Given the description of an element on the screen output the (x, y) to click on. 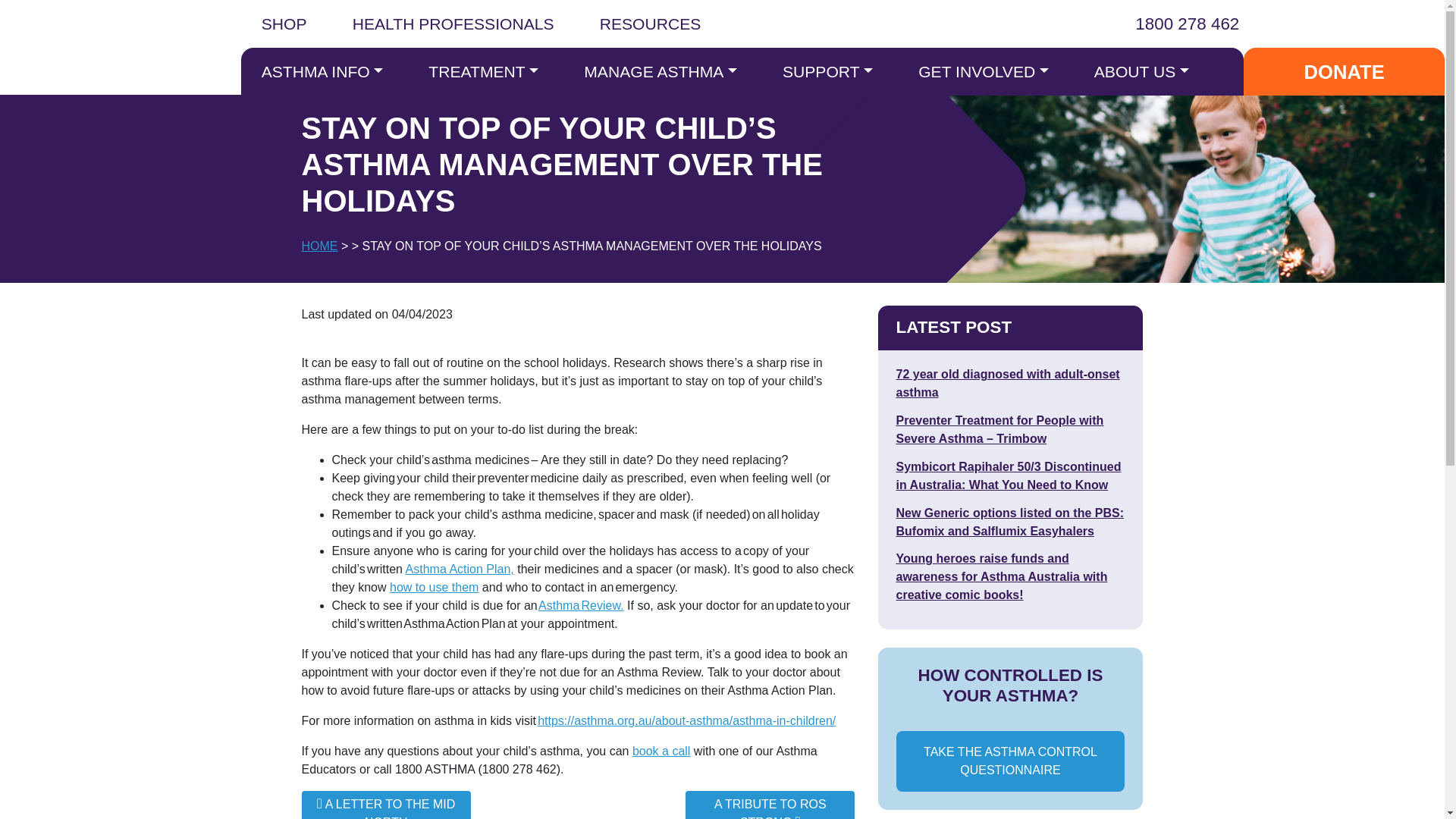
ASTHMA INFO (322, 71)
Resources (650, 27)
Shop (284, 27)
Health Professionals (452, 27)
SUPPORT (827, 71)
Treatment (483, 71)
SHOP (284, 27)
RESOURCES (650, 27)
MANAGE ASTHMA (660, 71)
1800 278 462 (1175, 23)
